Given the description of an element on the screen output the (x, y) to click on. 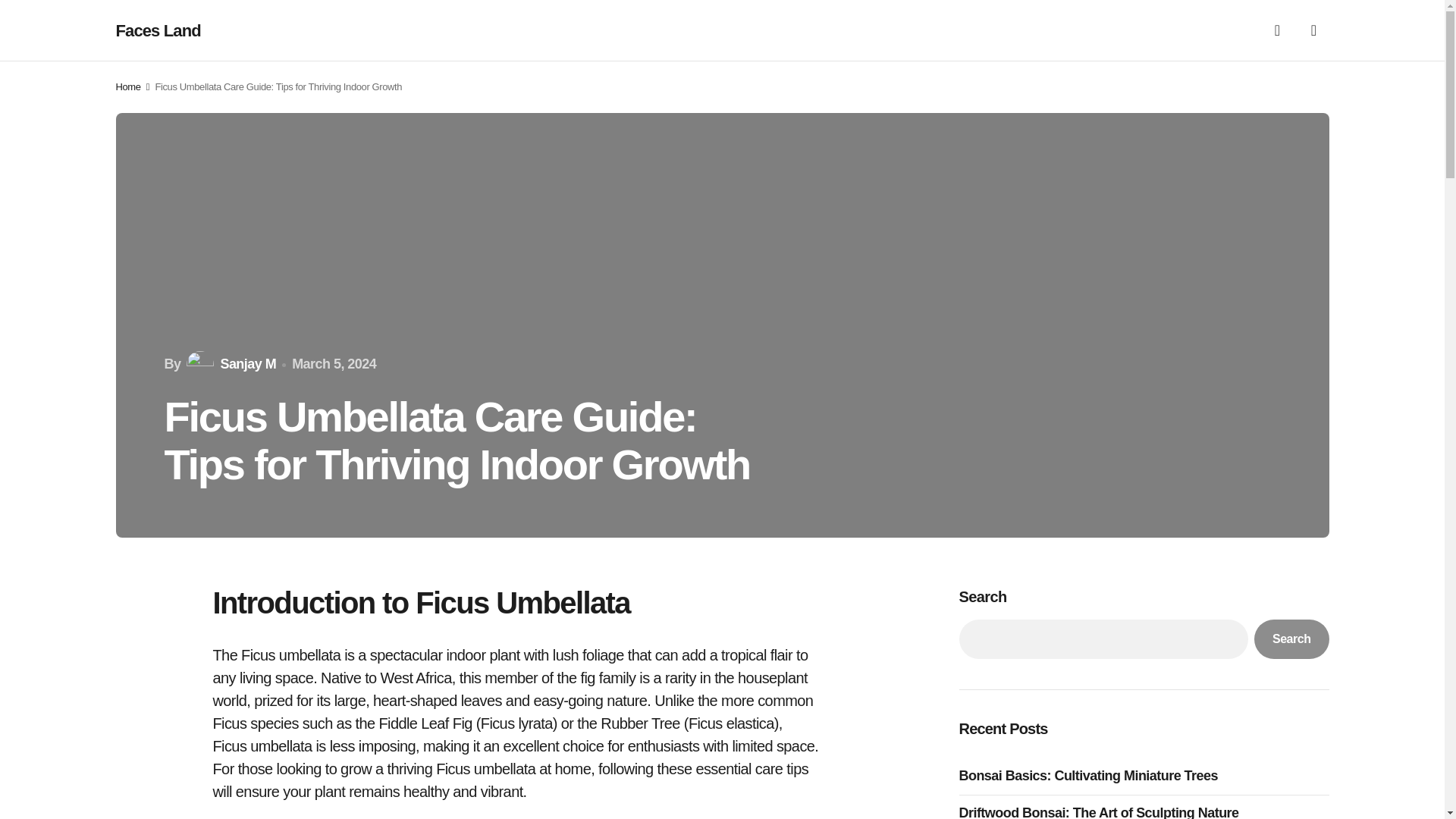
Search (1291, 638)
Home (127, 86)
Bonsai Basics: Cultivating Miniature Trees (1091, 775)
Faces Land (157, 30)
Sanjay M (229, 364)
Driftwood Bonsai: The Art of Sculpting Nature (1102, 811)
